Given the description of an element on the screen output the (x, y) to click on. 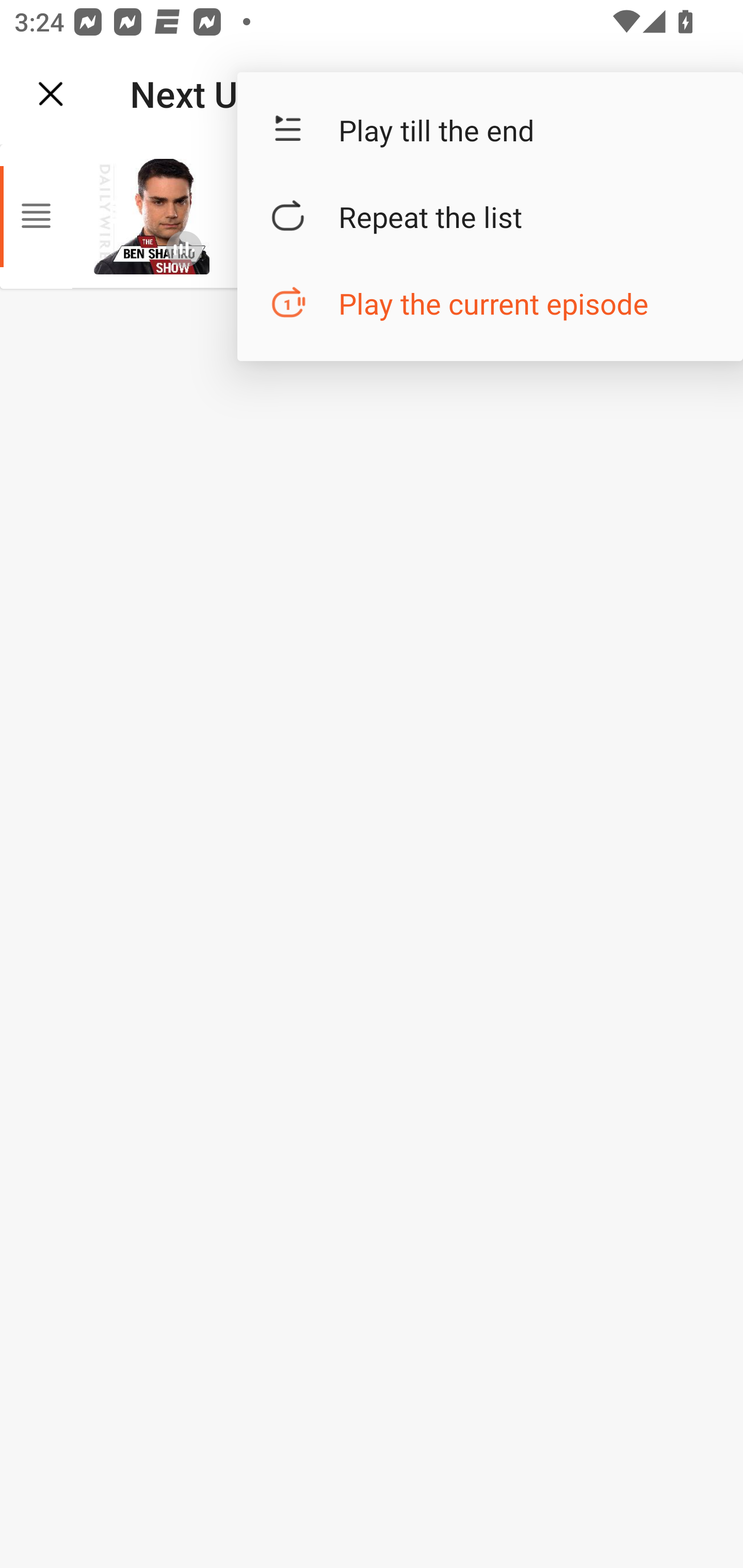
Play till the end (490, 130)
Repeat the list (490, 217)
Play the current episode (490, 303)
